Given the description of an element on the screen output the (x, y) to click on. 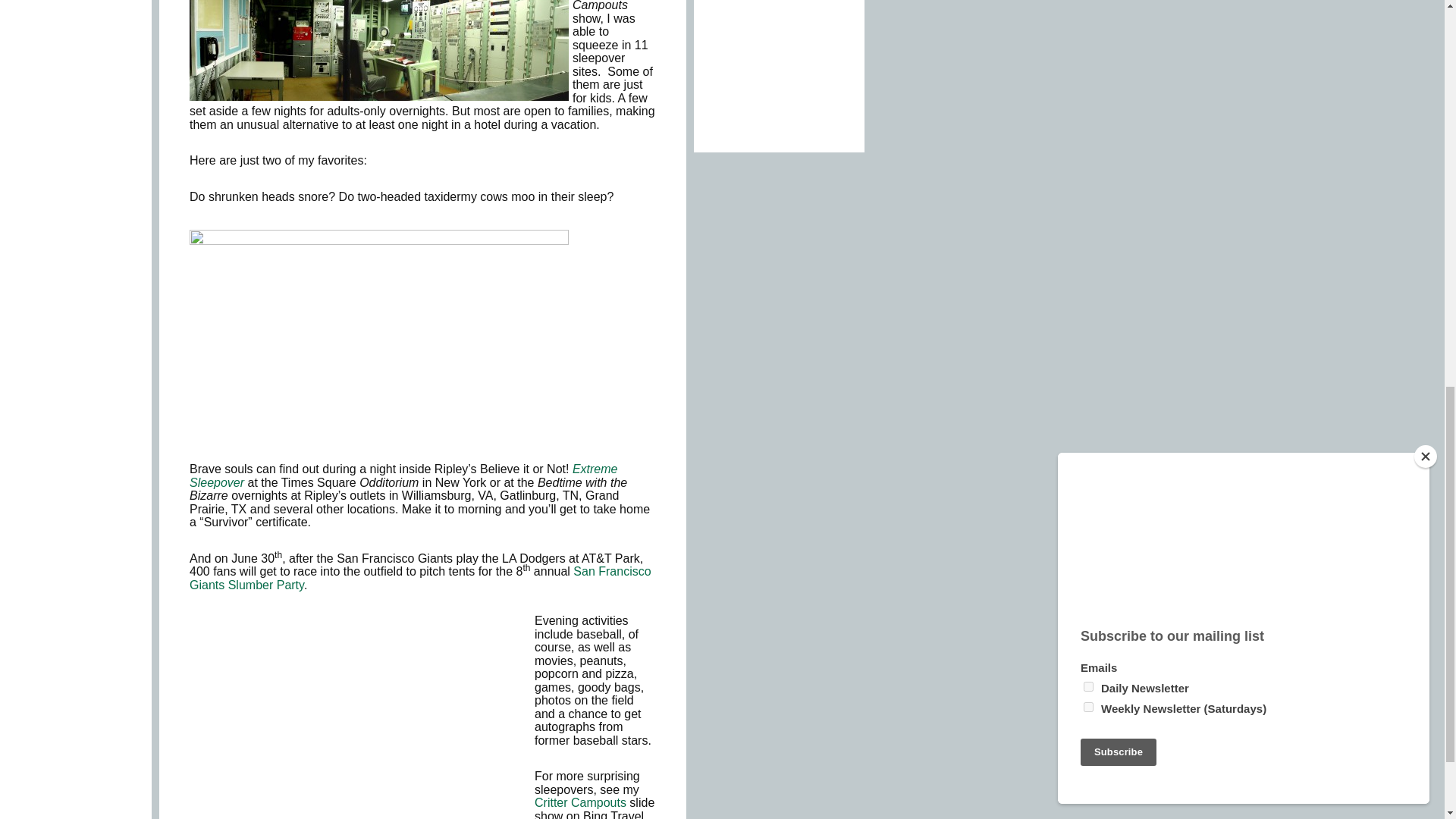
San Francisco Giants Slumber Party (419, 578)
Advertisement (777, 67)
Critter Campouts (580, 802)
Two-headed calf at Ripley's New York (379, 344)
Extreme Sleepover (403, 475)
Titan Missle Museum control room (379, 50)
